Given the description of an element on the screen output the (x, y) to click on. 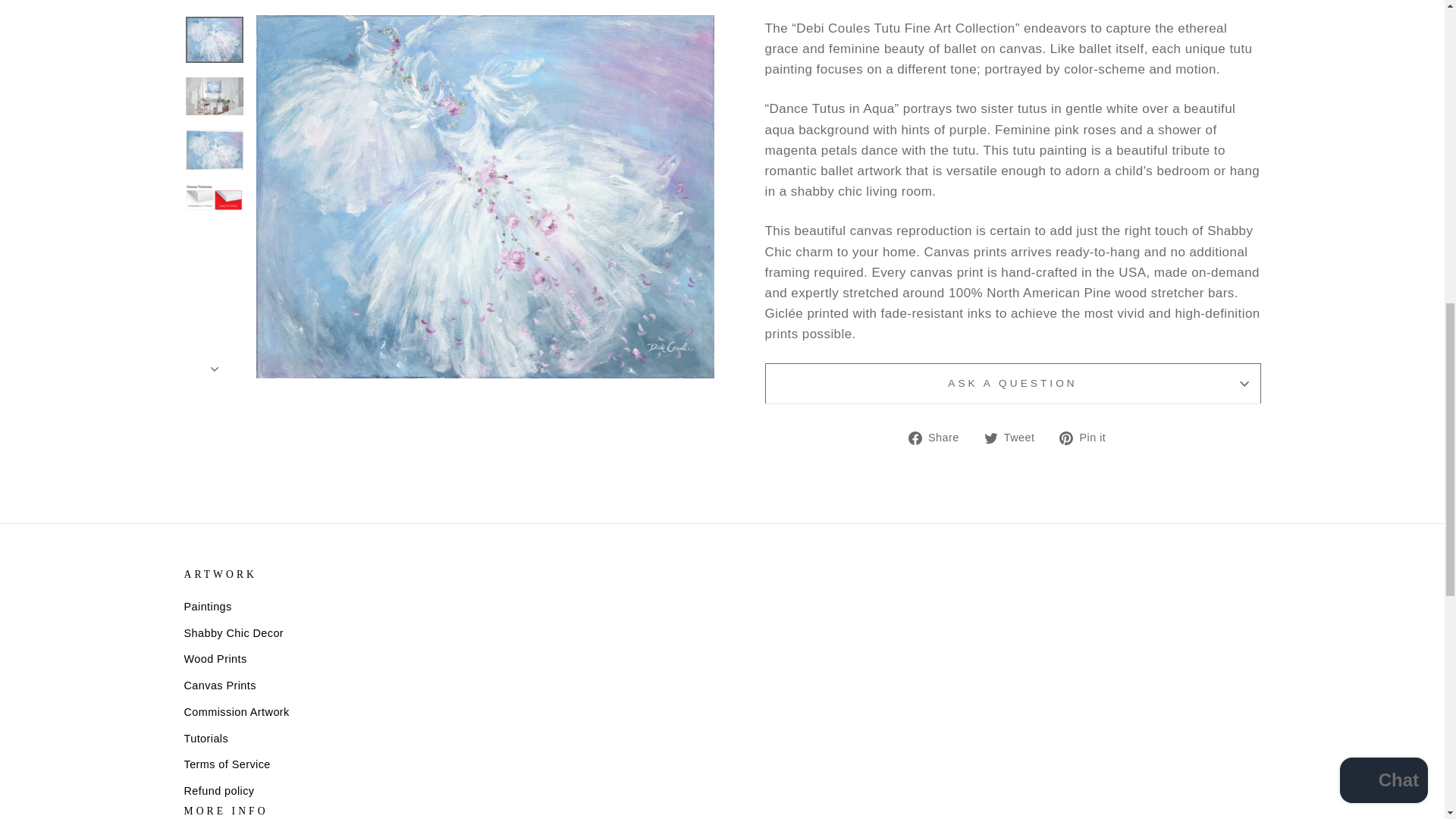
Share on Facebook (939, 436)
Pin on Pinterest (1087, 436)
twitter (990, 438)
Tweet on Twitter (1015, 436)
